Given the description of an element on the screen output the (x, y) to click on. 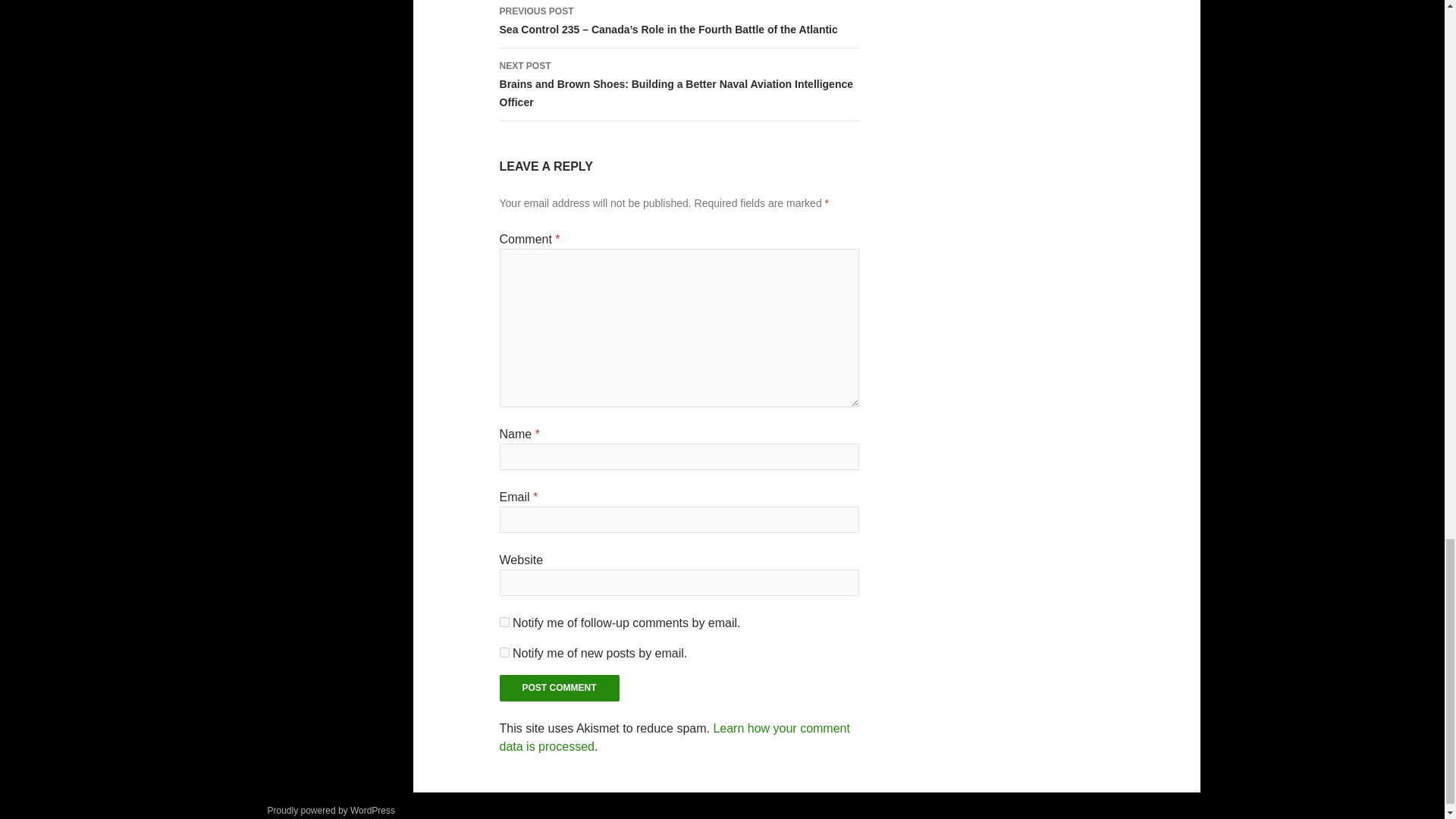
Post Comment (559, 687)
subscribe (504, 622)
subscribe (504, 652)
